Given the description of an element on the screen output the (x, y) to click on. 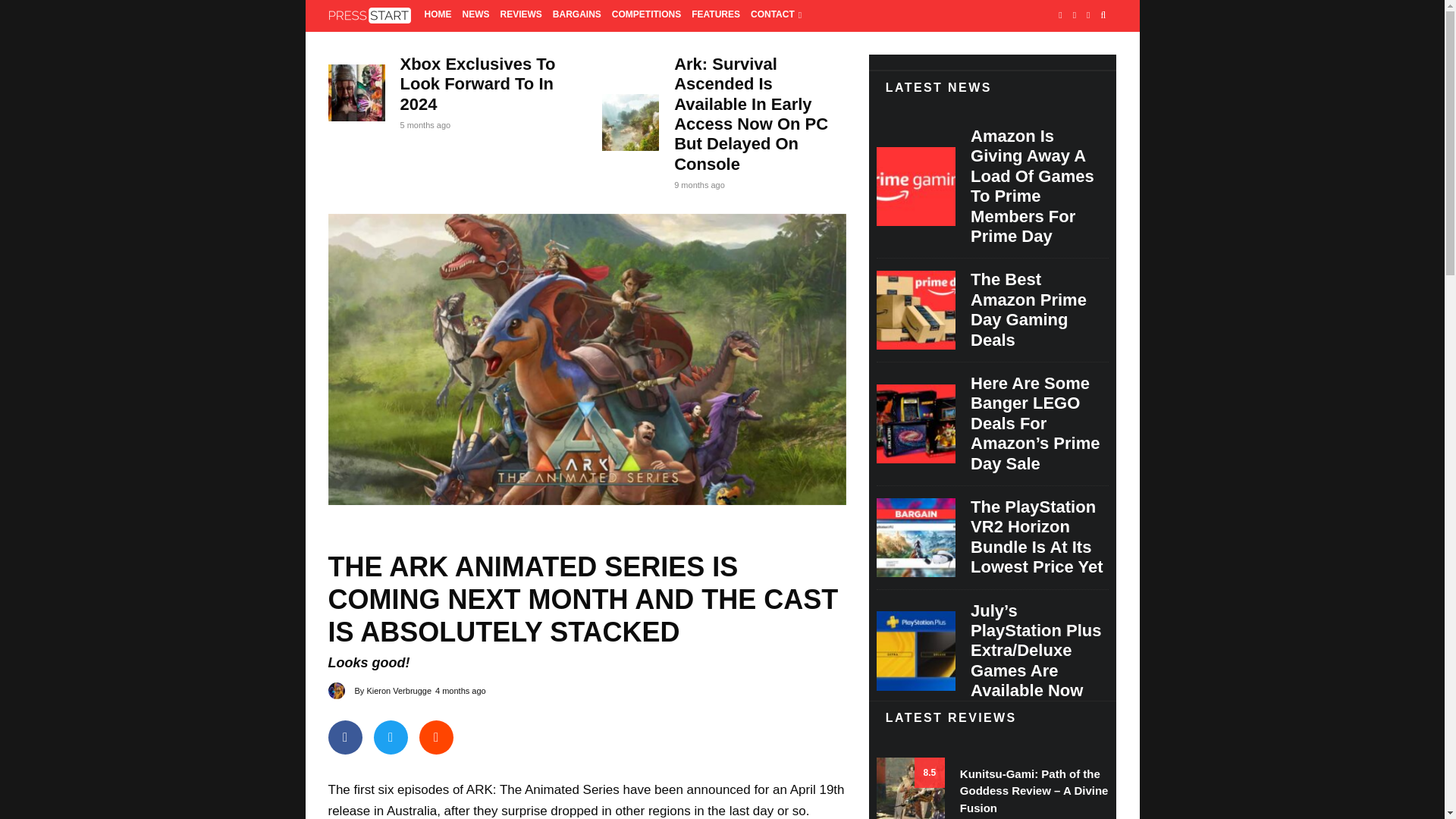
HOME (438, 15)
REVIEWS (521, 15)
NEWS (476, 15)
